Given the description of an element on the screen output the (x, y) to click on. 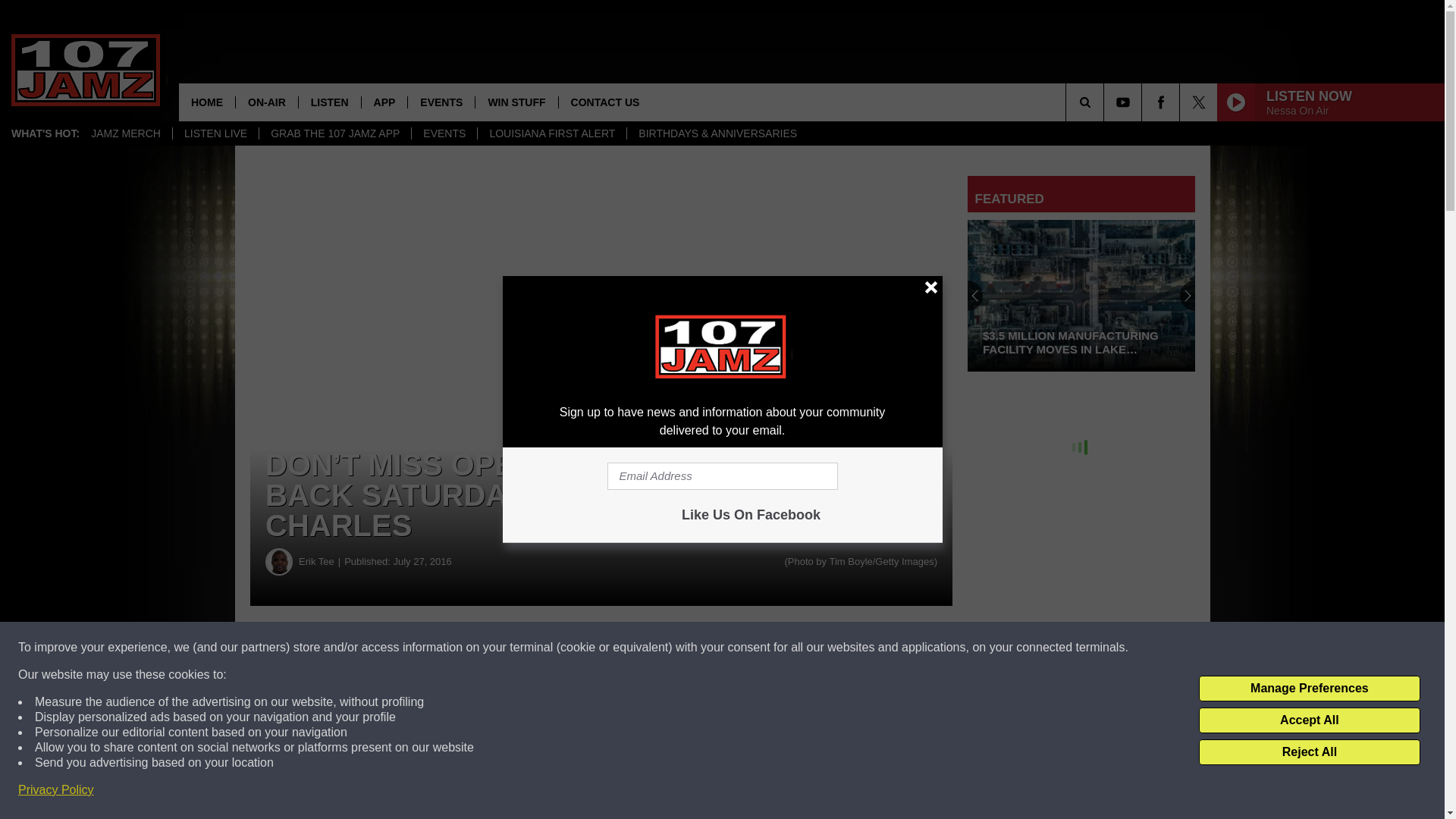
SEARCH (1106, 102)
JAMZ MERCH (125, 133)
Share on Facebook (460, 647)
HOME (206, 102)
GRAB THE 107 JAMZ APP (334, 133)
APP (384, 102)
EVENTS (440, 102)
WIN STUFF (515, 102)
Privacy Policy (55, 789)
ON-AIR (266, 102)
LOUISIANA FIRST ALERT (551, 133)
Accept All (1309, 720)
Email Address (722, 475)
Manage Preferences (1309, 688)
SEARCH (1106, 102)
